Given the description of an element on the screen output the (x, y) to click on. 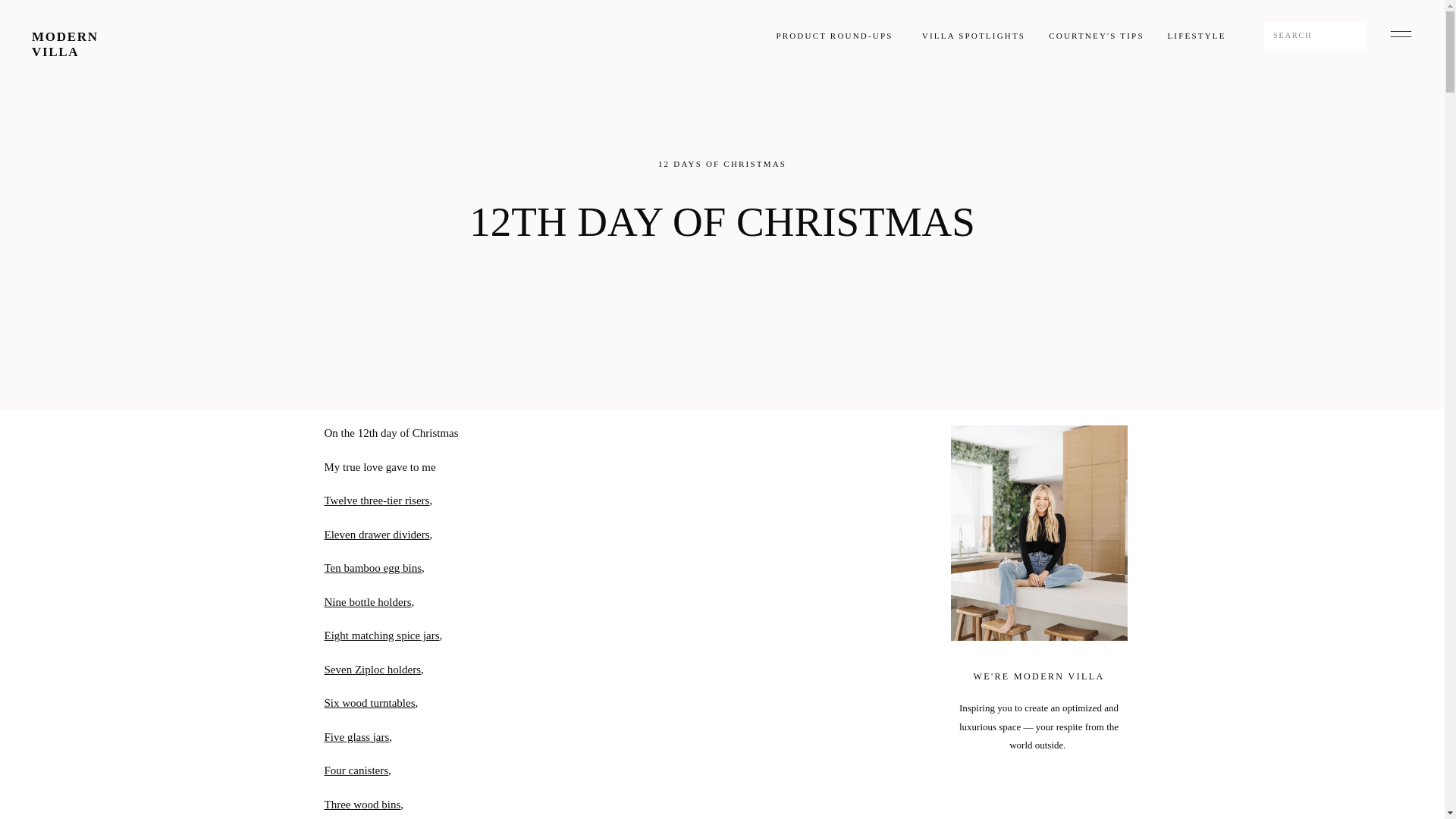
Seven Ziploc holders (372, 668)
Ten bamboo egg bins (373, 567)
COURTNEY'S TIPS (1096, 34)
LIFESTYLE (1195, 35)
Eight matching spice jars (381, 635)
Twelve three-tier risers (376, 500)
Eleven drawer dividers (376, 533)
PRODUCT ROUND-UPS (834, 35)
12 DAYS OF CHRISTMAS (722, 163)
VILLA SPOTLIGHTS (973, 35)
